Given the description of an element on the screen output the (x, y) to click on. 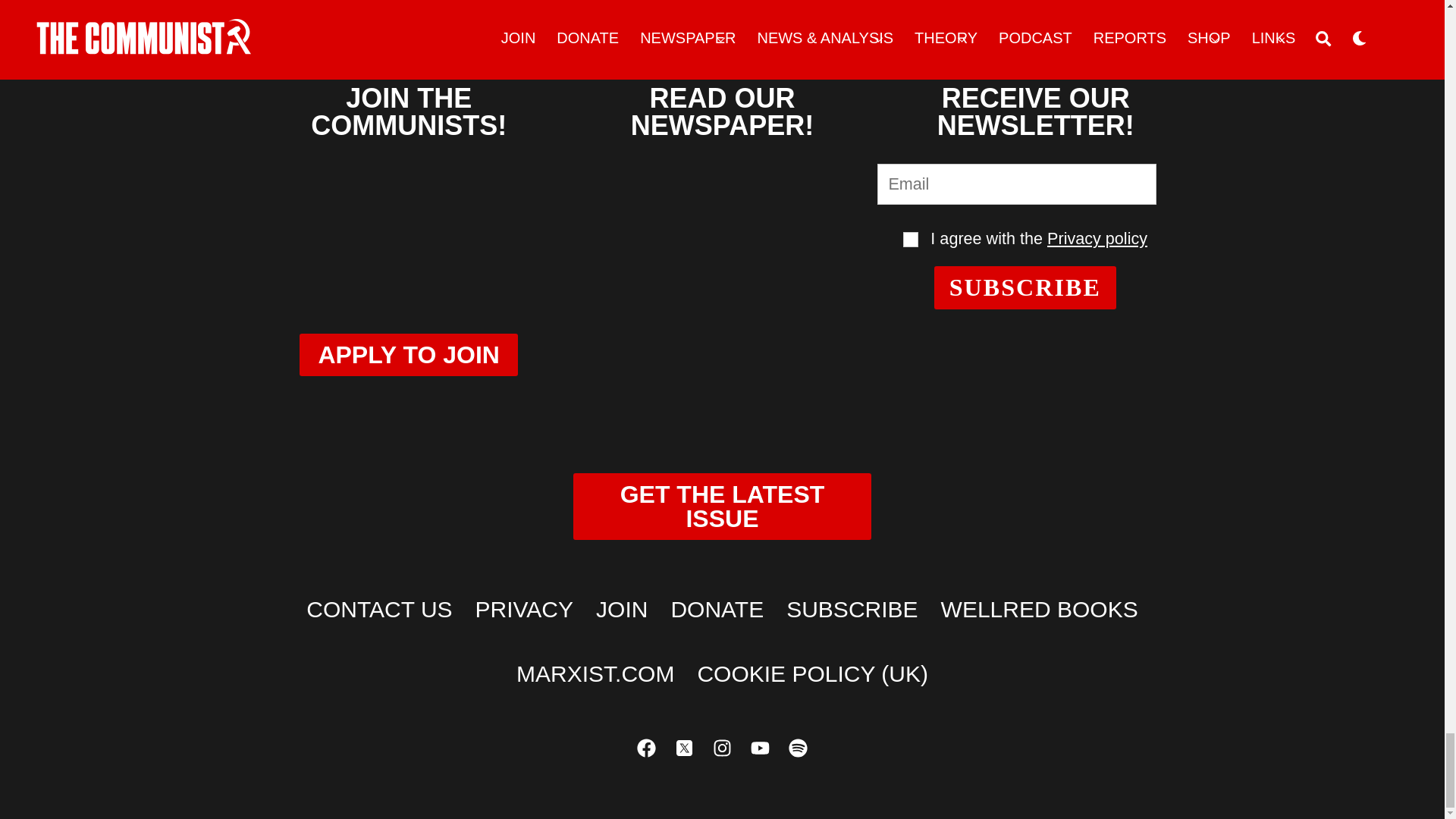
on (910, 239)
Terms and conditions (910, 239)
Privacy policy (1096, 238)
